Given the description of an element on the screen output the (x, y) to click on. 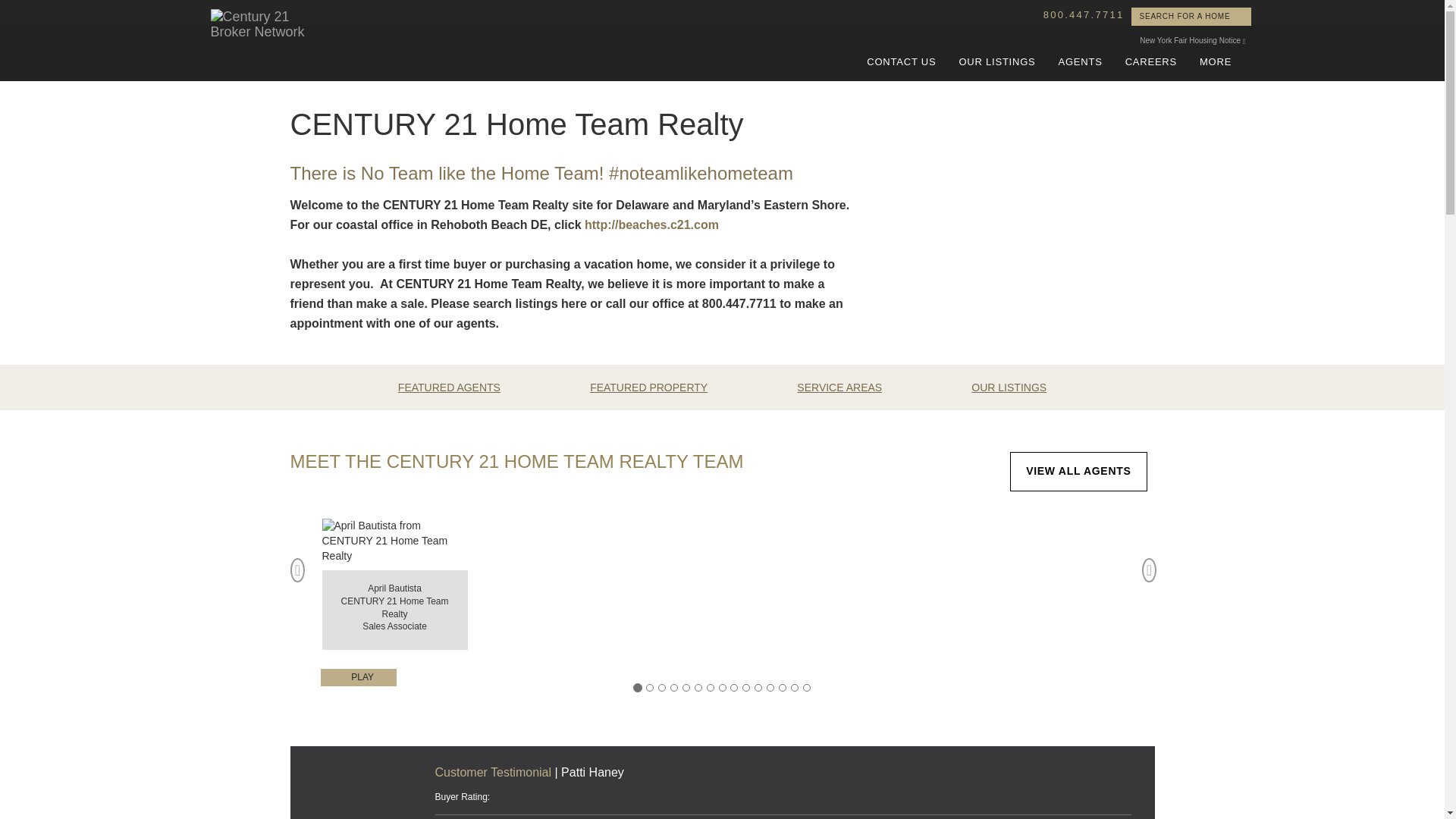
Next (1149, 579)
SERVICE AREAS (839, 387)
FEATURED AGENTS (448, 387)
VIEW ALL AGENTS (1078, 471)
New York Fair Housing Notice (1192, 40)
CAREERS (1217, 62)
OUR LISTINGS (1150, 62)
AGENTS (996, 62)
Social Network: FBK (1079, 62)
SEARCH FOR A HOME (887, 163)
CONTACT US (1190, 16)
PLAY (901, 62)
OUR LISTINGS (358, 677)
800.447.7711 (1008, 387)
